Given the description of an element on the screen output the (x, y) to click on. 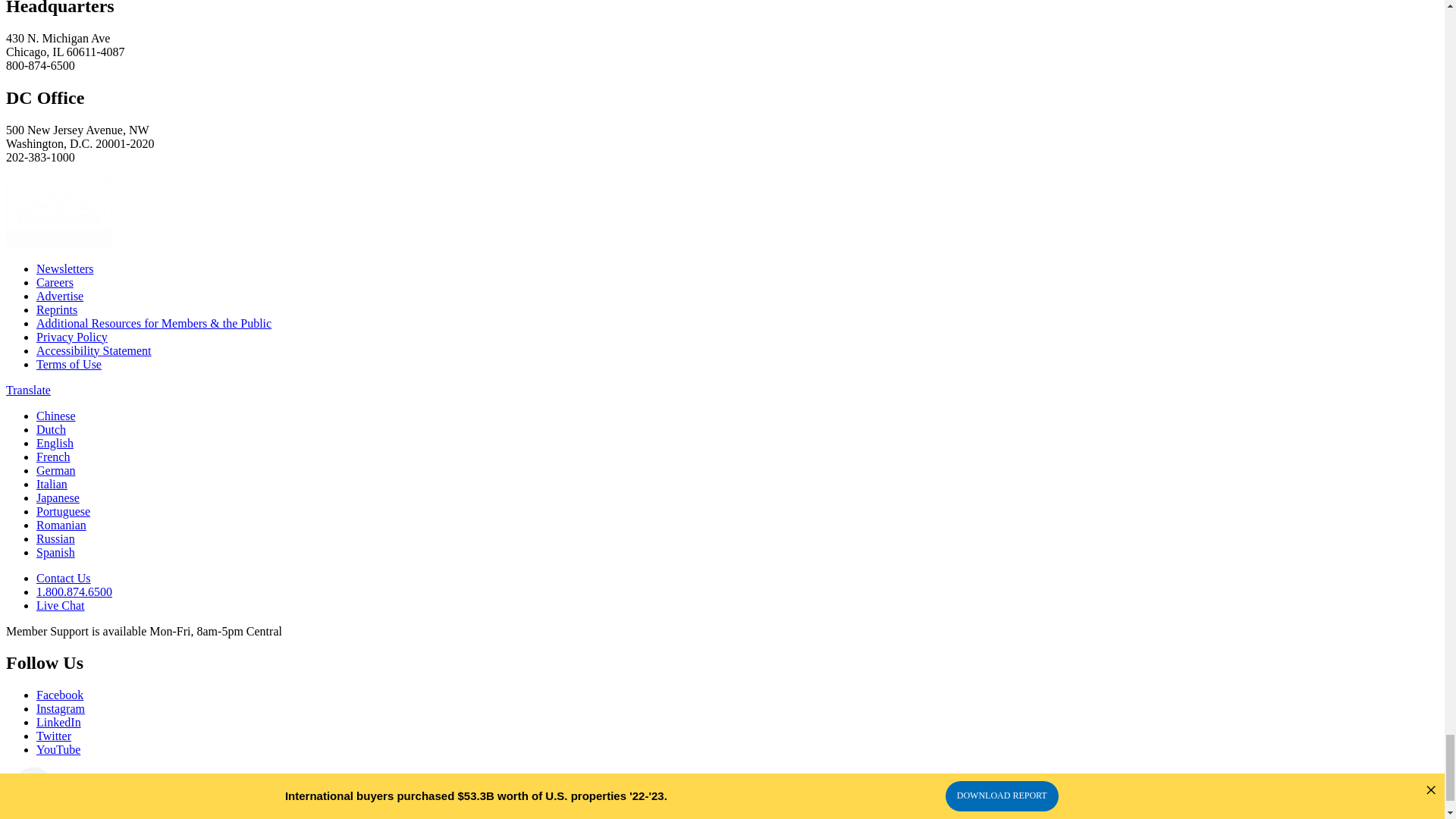
Green Business Benchmark (58, 242)
